Given the description of an element on the screen output the (x, y) to click on. 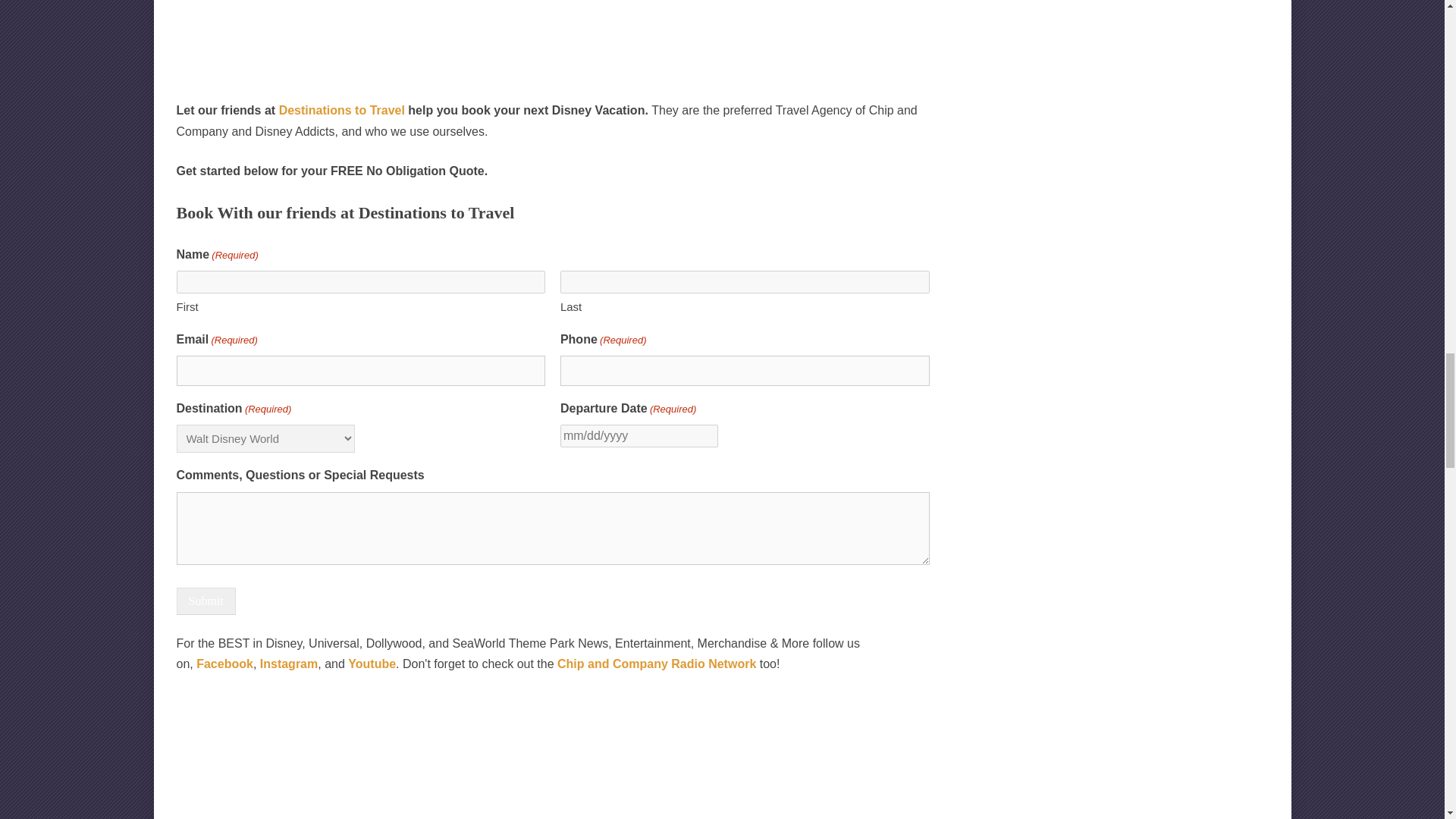
Submit (205, 601)
